Given the description of an element on the screen output the (x, y) to click on. 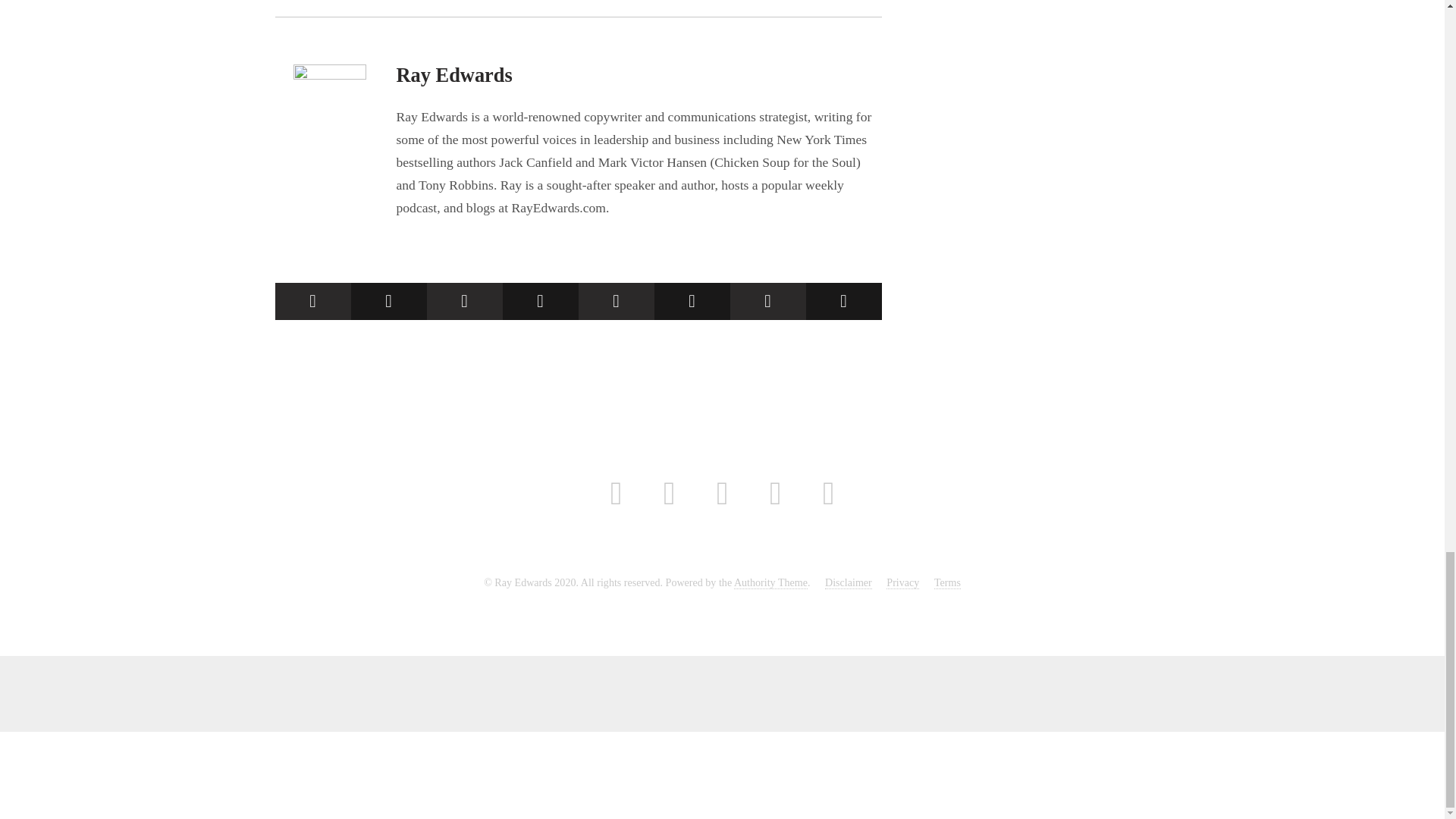
Posts by Ray Edwards (454, 74)
